Given the description of an element on the screen output the (x, y) to click on. 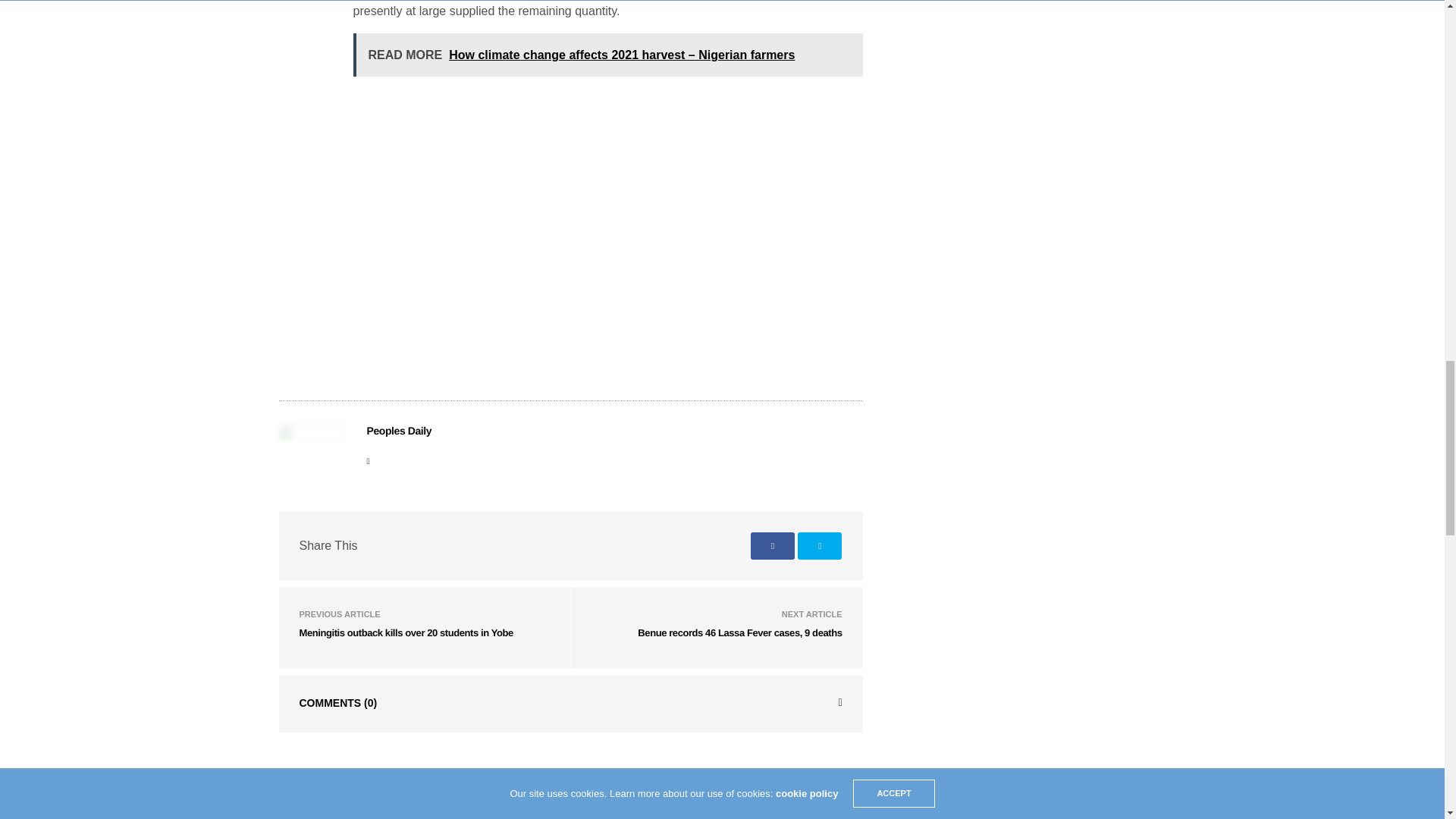
Meningitis outback kills over 20 students in Yobe (405, 632)
Benue records 46 Lassa Fever cases, 9 deaths (739, 632)
Advertisement (608, 318)
